Given the description of an element on the screen output the (x, y) to click on. 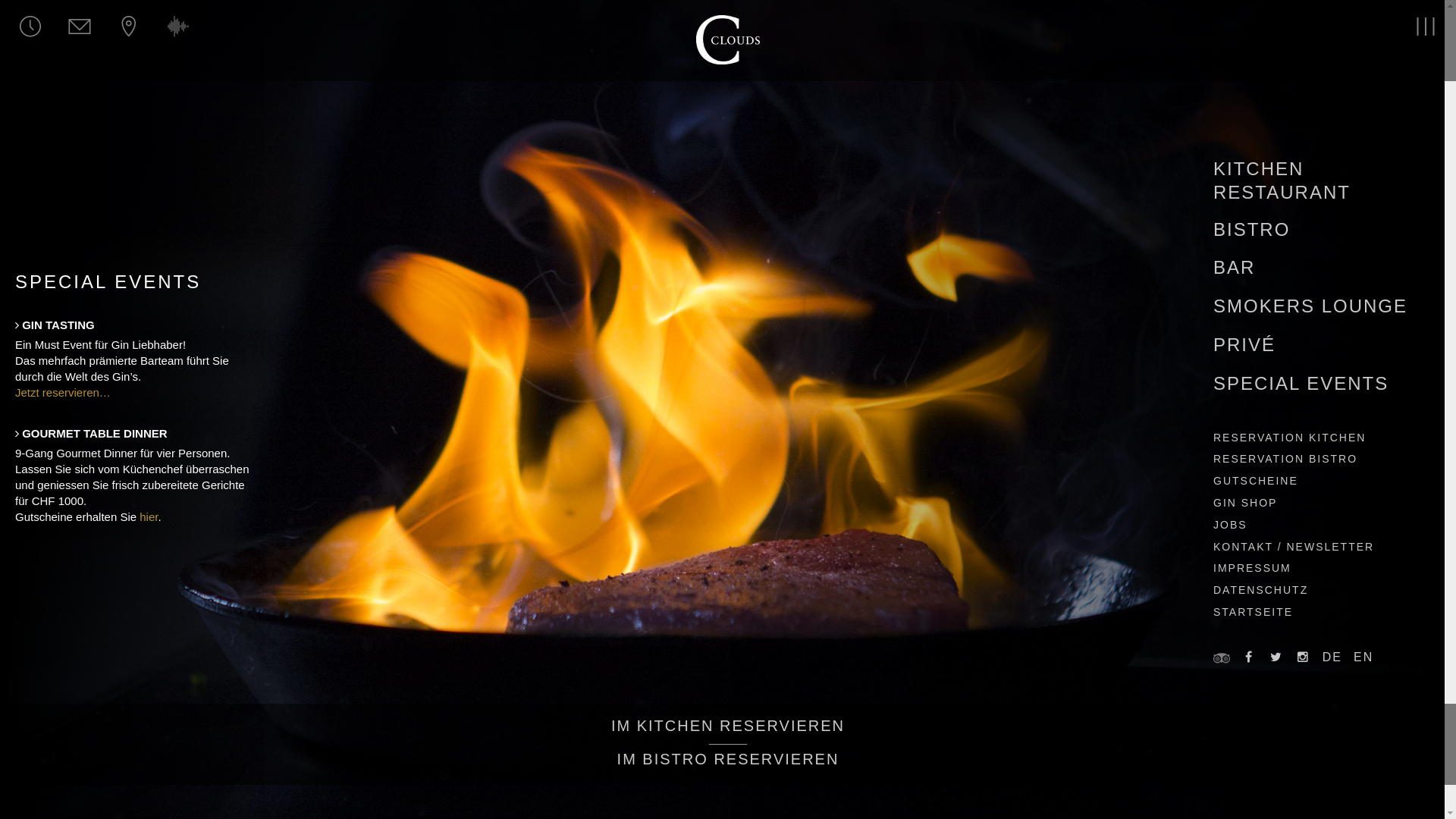
STARTSEITE Element type: text (1252, 611)
BISTRO Element type: text (1251, 228)
GUTSCHEINE Element type: text (1255, 480)
DATENSCHUTZ Element type: text (1260, 589)
IM KITCHEN RESERVIEREN Element type: text (727, 729)
GIN SHOP Element type: text (1245, 502)
IM BISTRO RESERVIEREN Element type: text (728, 758)
JOBS Element type: text (1230, 523)
EN Element type: text (1363, 655)
DE Element type: text (1332, 655)
RESERVATION BISTRO Element type: text (1285, 458)
RESERVATION KITCHEN Element type: text (1289, 436)
KONTAKT / NEWSLETTER Element type: text (1293, 545)
KITCHEN RESTAURANT Element type: text (1281, 180)
IMPRESSUM Element type: text (1252, 567)
hier Element type: text (148, 515)
GOURMET TABLE DINNER Element type: text (132, 434)
BAR Element type: text (1234, 267)
SMOKERS LOUNGE Element type: text (1310, 305)
SPECIAL EVENTS Element type: text (1300, 383)
